Given the description of an element on the screen output the (x, y) to click on. 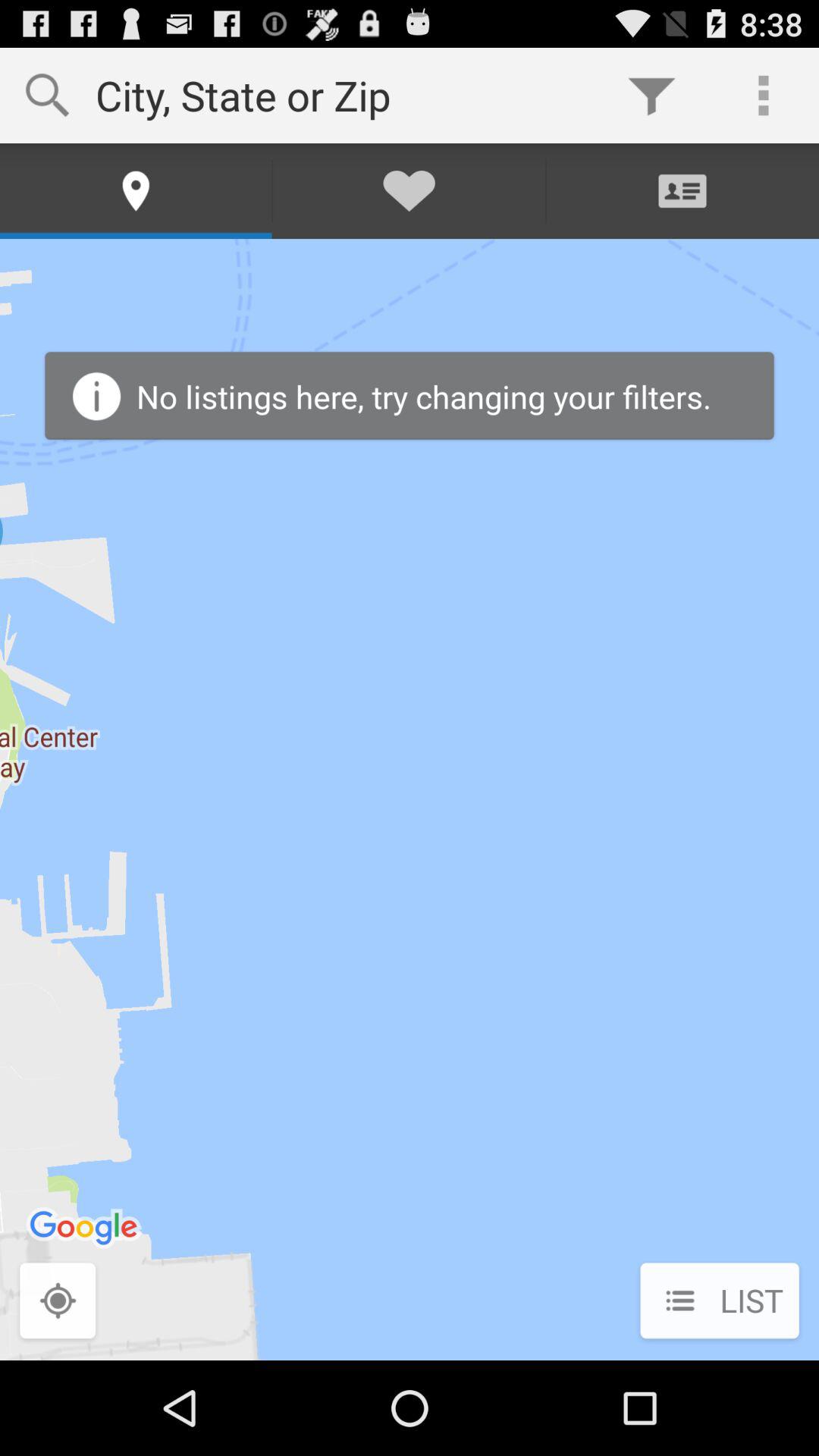
choose the icon to the left of list icon (57, 1302)
